Given the description of an element on the screen output the (x, y) to click on. 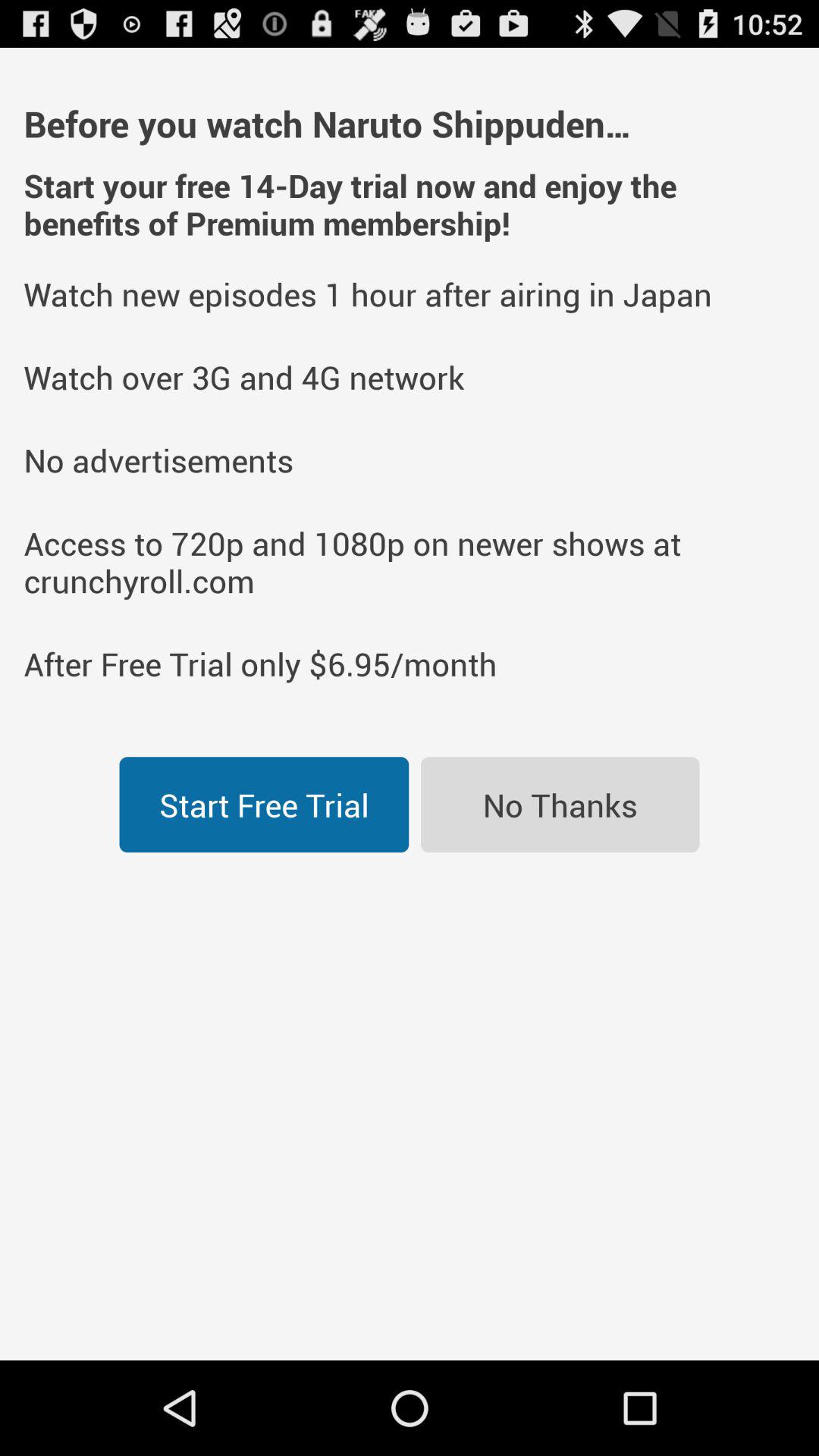
launch the no thanks item (559, 804)
